Given the description of an element on the screen output the (x, y) to click on. 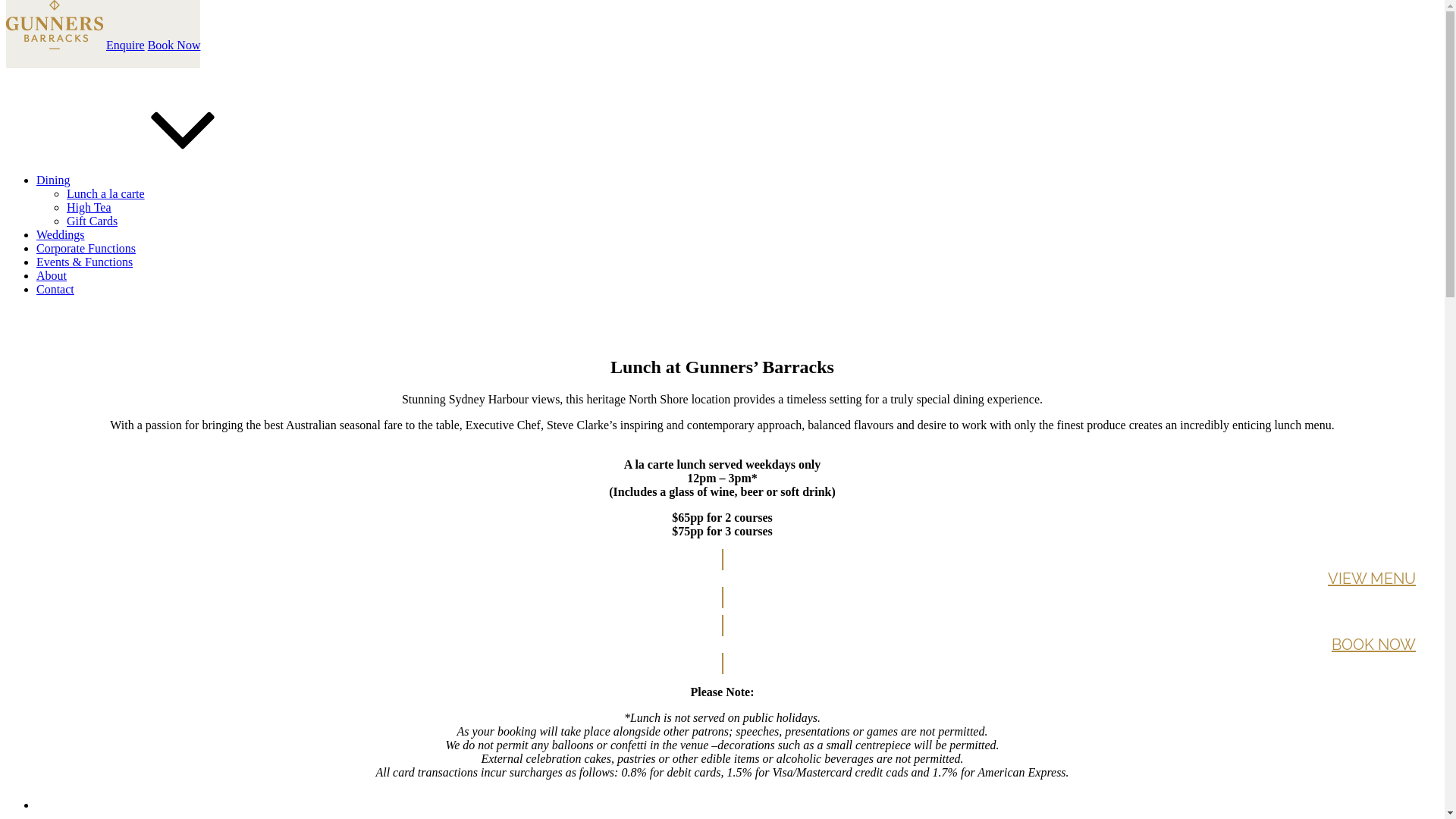
VIEW MENU Element type: text (722, 578)
High Tea Element type: text (88, 206)
BOOK NOW Element type: text (722, 644)
Weddings Element type: text (60, 234)
About Element type: text (51, 275)
Contact Element type: text (55, 288)
Book Now Element type: text (173, 44)
Events & Functions Element type: text (84, 261)
Corporate Functions Element type: text (85, 247)
Dining Element type: text (166, 179)
Lunch a la carte Element type: text (105, 193)
Enquire Element type: text (125, 44)
Gift Cards Element type: text (91, 220)
